Given the description of an element on the screen output the (x, y) to click on. 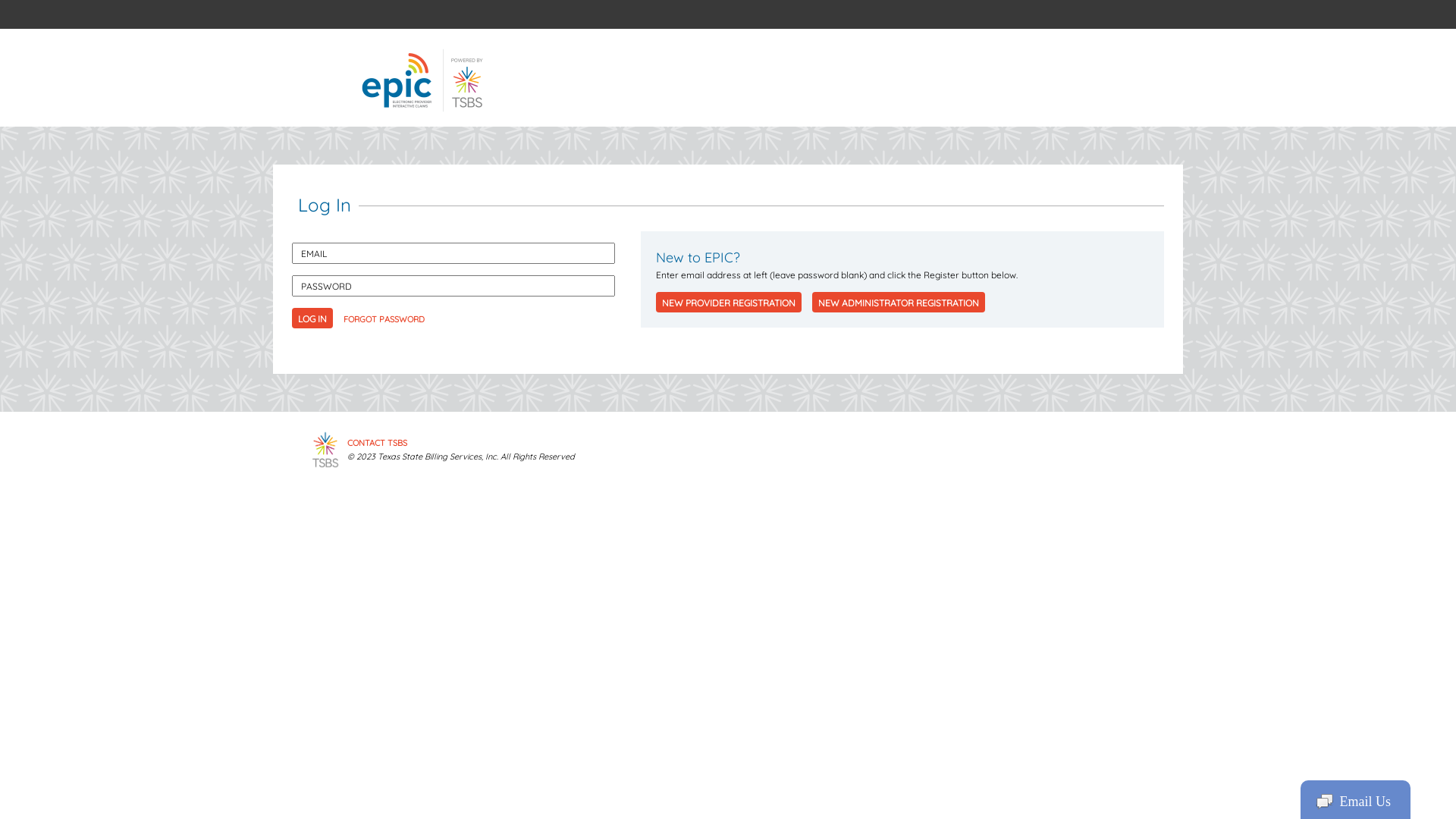
FORGOT PASSWORD Element type: text (383, 318)
NEW PROVIDER REGISTRATION Element type: text (728, 302)
NEW ADMINISTRATOR REGISTRATION Element type: text (898, 302)
LOG IN Element type: text (311, 318)
CONTACT TSBS Element type: text (377, 443)
